Given the description of an element on the screen output the (x, y) to click on. 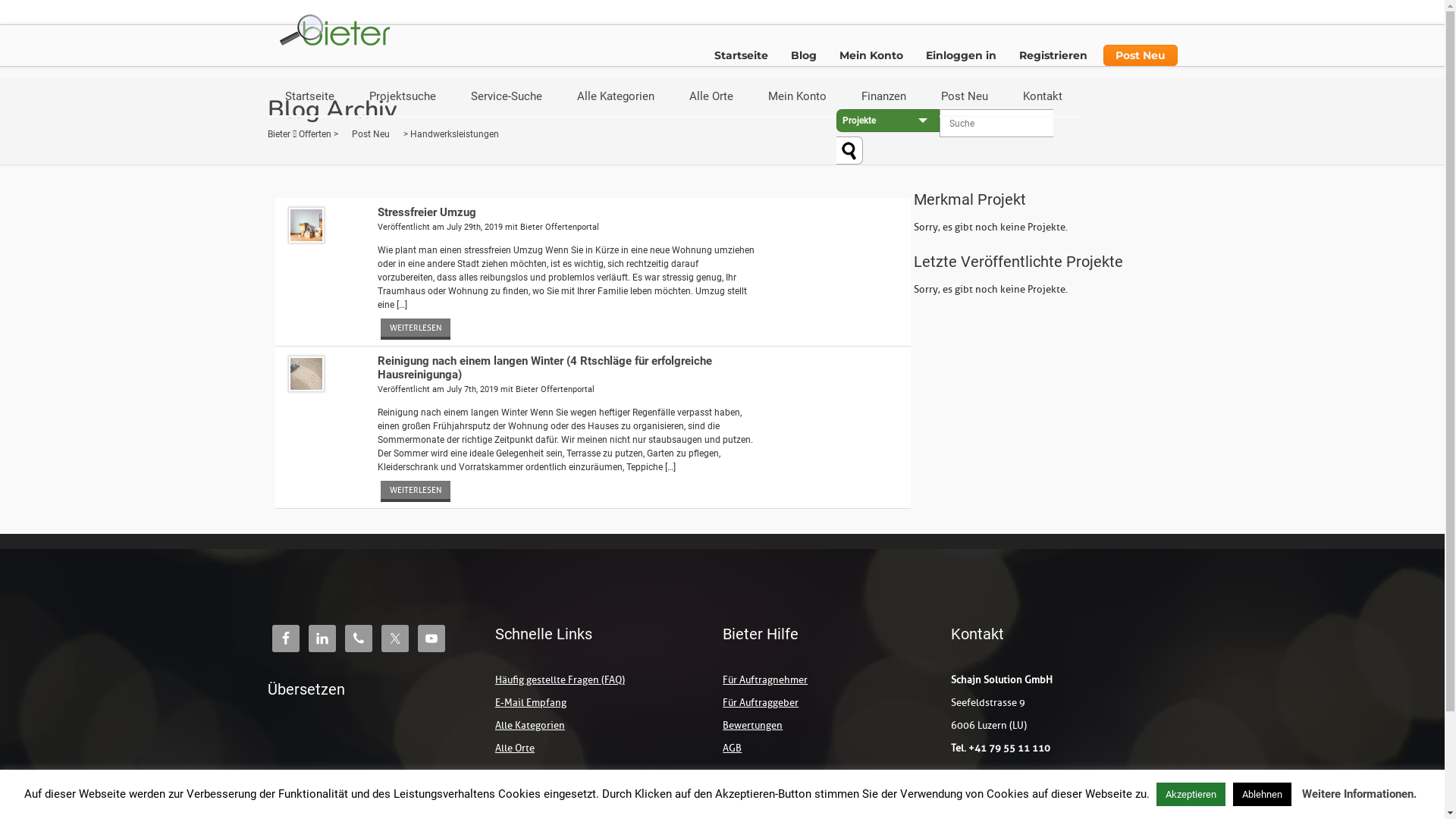
Projektsuche Element type: text (402, 97)
Stressfreier Umzug Element type: text (426, 212)
WEITERLESEN Element type: text (415, 328)
Akzeptieren Element type: text (1190, 794)
Ablehnen Element type: text (1262, 794)
Einloggen in Element type: text (960, 55)
Mein Konto Element type: text (797, 97)
Bewertungen Element type: text (752, 724)
Registrieren Element type: text (1052, 55)
Startseite Element type: text (308, 97)
Post Neu Element type: text (964, 97)
Post Neu Element type: text (1139, 54)
Kontakt Element type: text (1042, 97)
Weitere Informationen. Element type: text (1359, 793)
E-Mail Empfang Element type: text (530, 702)
  Element type: text (848, 150)
Finanzen Element type: text (882, 97)
Post Neu Element type: text (369, 128)
Alle Kategorien Element type: text (529, 724)
Blog Element type: text (803, 55)
Startseite Element type: text (740, 55)
AGB Element type: text (731, 747)
Alle Orte Element type: text (710, 97)
Alle Orte Element type: text (514, 747)
Service-Suche Element type: text (506, 97)
WEITERLESEN Element type: text (415, 491)
Alle Kategorien Element type: text (615, 97)
Mein Konto Element type: text (871, 55)
